Given the description of an element on the screen output the (x, y) to click on. 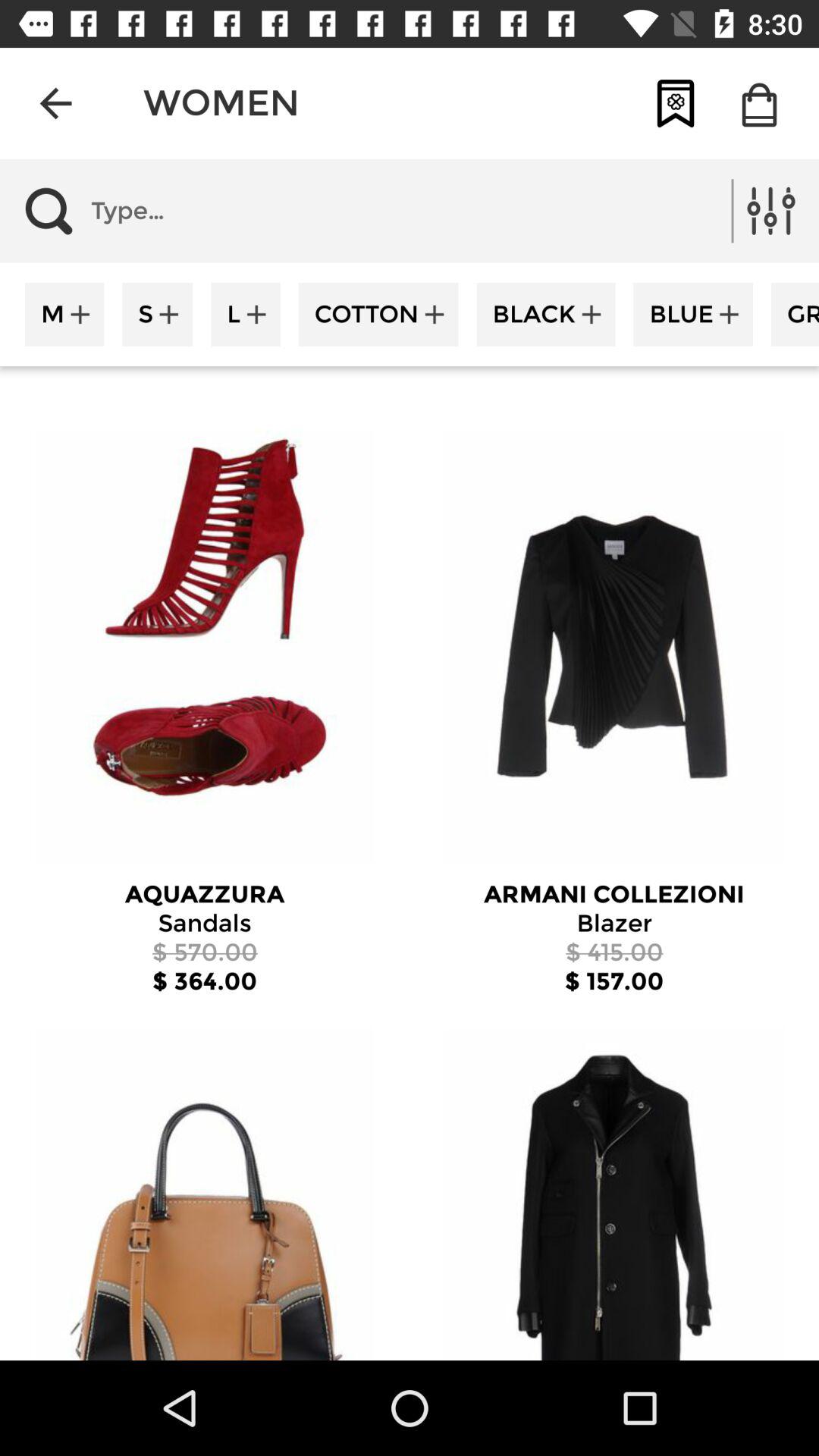
turn on icon next to the black (378, 314)
